Given the description of an element on the screen output the (x, y) to click on. 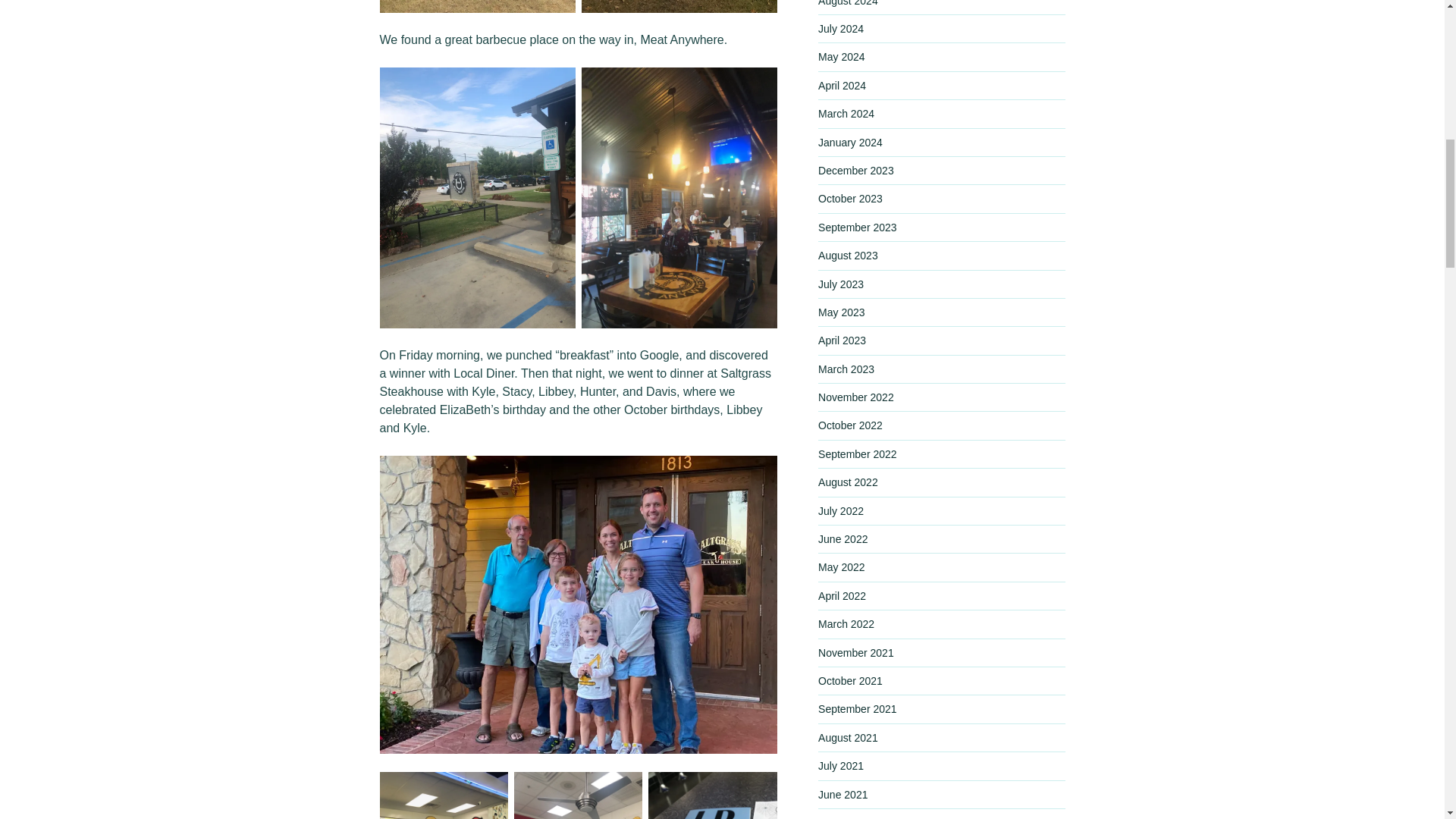
May 2024 (841, 56)
July 2024 (840, 28)
March 2024 (846, 113)
January 2024 (850, 142)
April 2024 (842, 85)
August 2024 (847, 3)
December 2023 (855, 170)
September 2023 (857, 227)
October 2023 (850, 198)
